Given the description of an element on the screen output the (x, y) to click on. 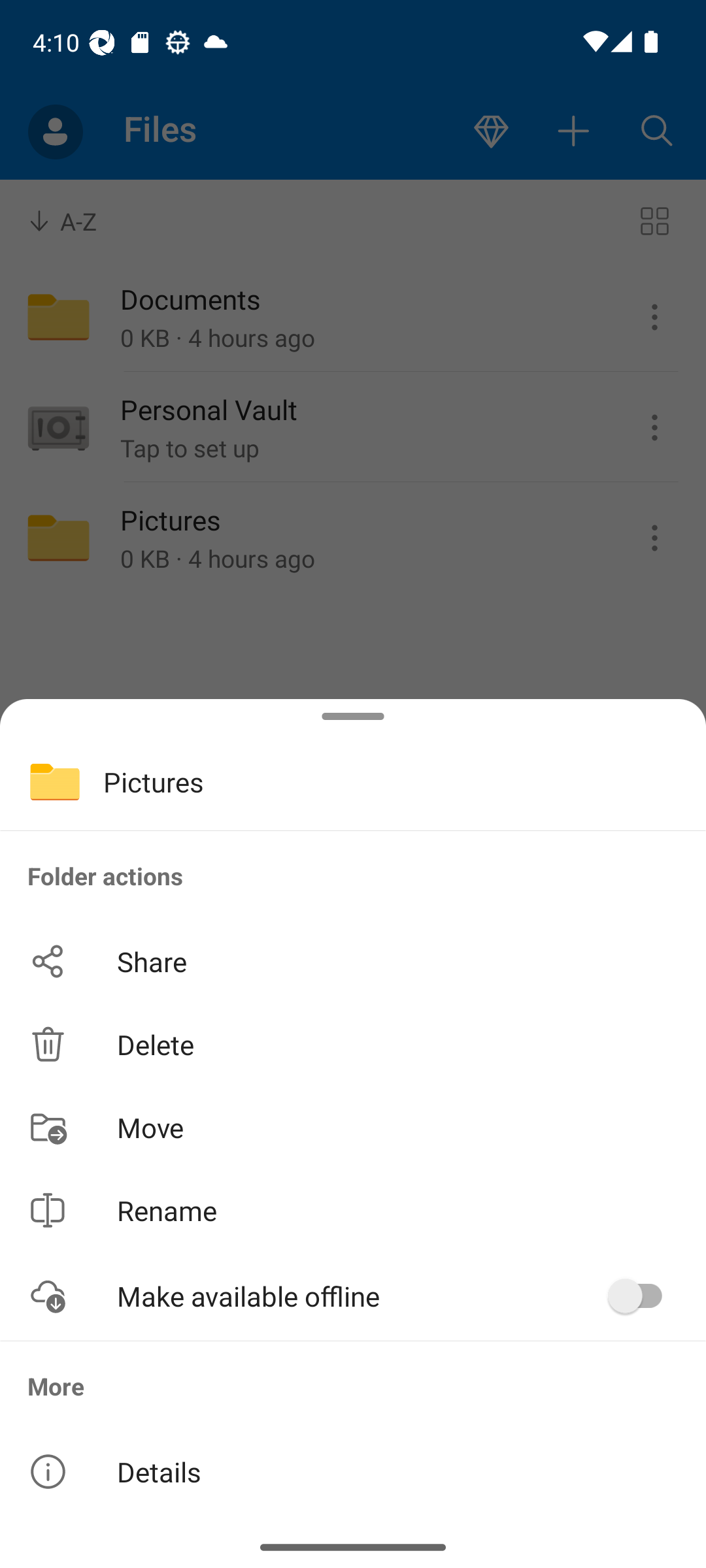
Share button Share (353, 961)
Delete button Delete (353, 1044)
Move button Move (353, 1126)
Rename button Rename (353, 1209)
Make offline operation (641, 1295)
Details button Details (353, 1471)
